Given the description of an element on the screen output the (x, y) to click on. 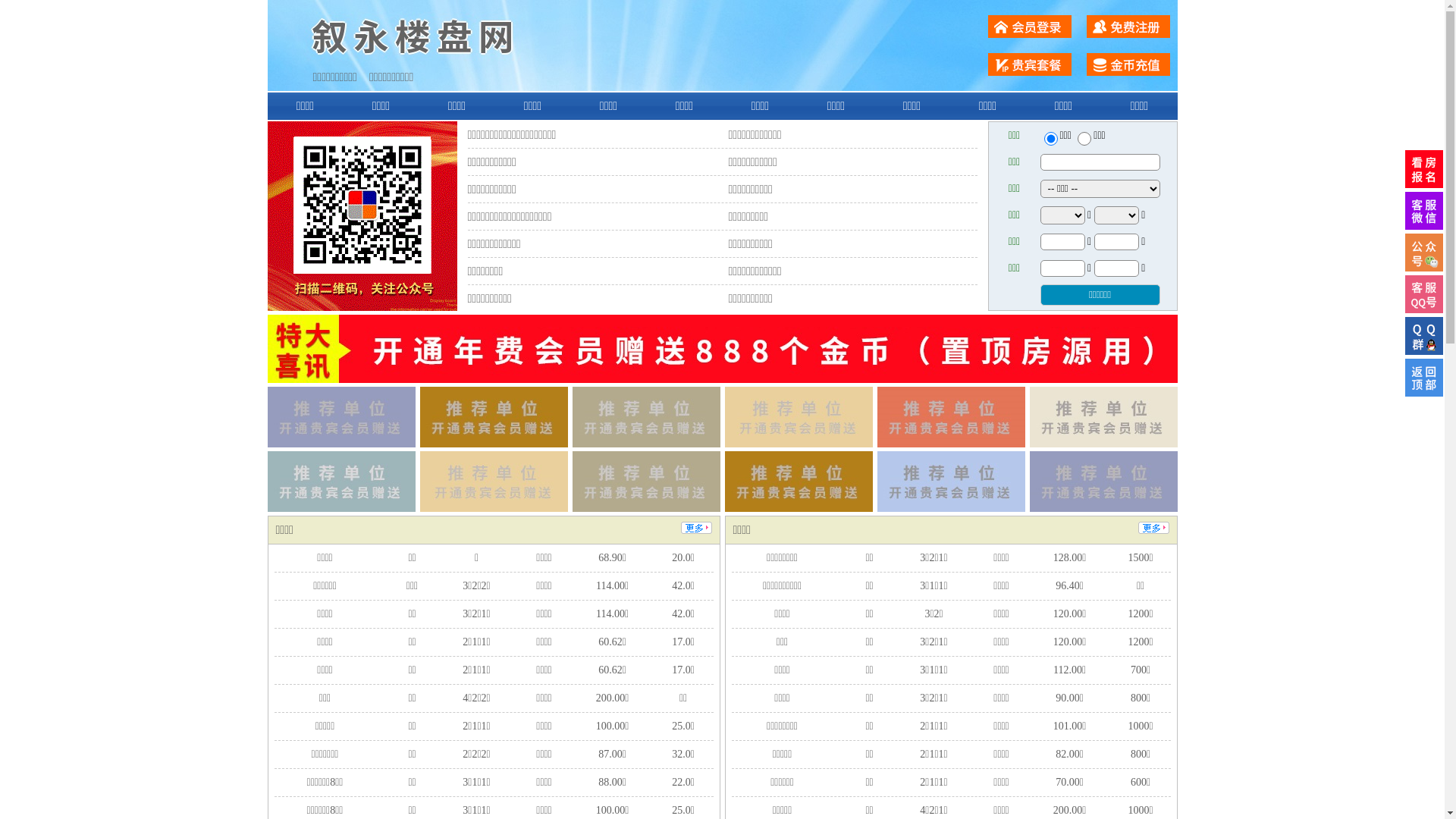
ershou Element type: text (1050, 138)
chuzu Element type: text (1084, 138)
